Given the description of an element on the screen output the (x, y) to click on. 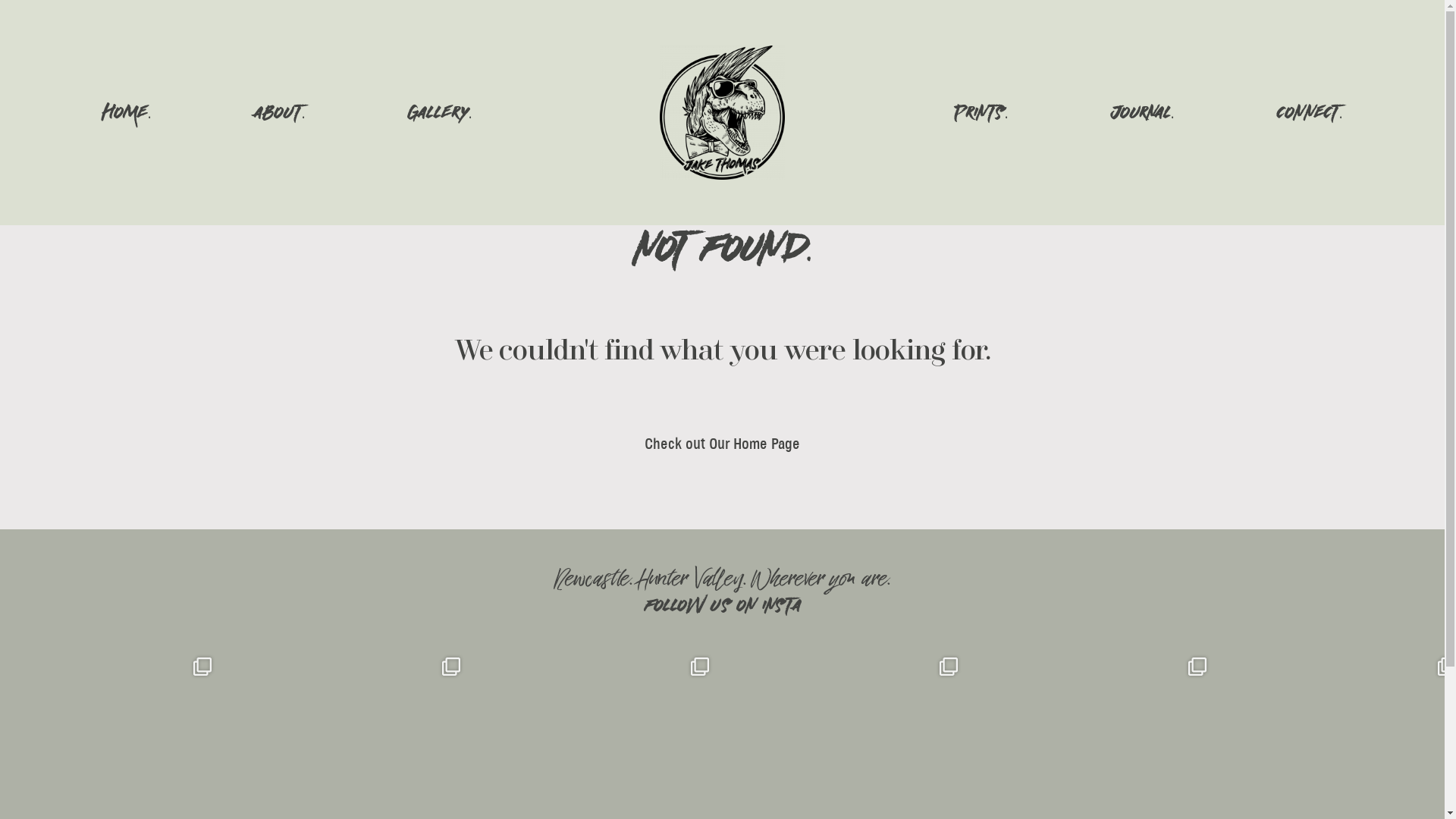
FOLLOW US ON INSTA Element type: text (721, 606)
Check out Our Home Page Element type: text (722, 444)
PRINTS. Element type: text (980, 112)
HOME. Element type: text (126, 112)
CONNECT. Element type: text (1309, 112)
JOURNAL. Element type: text (1141, 112)
GALLERY. Element type: text (439, 112)
ABOUT. Element type: text (278, 112)
